Given the description of an element on the screen output the (x, y) to click on. 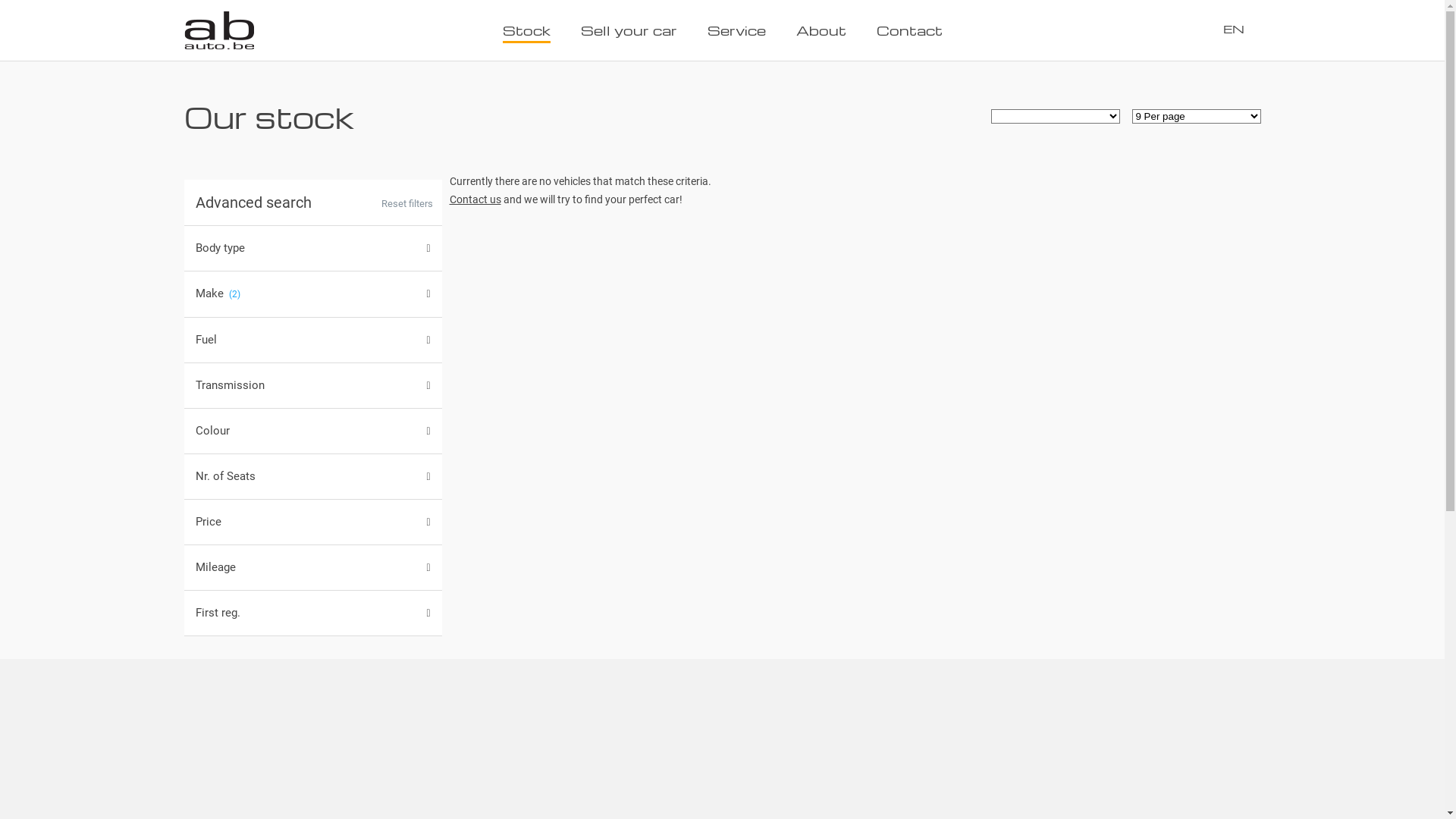
Transmission Element type: text (312, 385)
Reset filters Element type: text (406, 203)
Body type Element type: text (312, 247)
Fuel Element type: text (312, 339)
Contact Element type: text (909, 31)
Nr. of Seats Element type: text (312, 476)
EN  Element type: text (1241, 28)
First reg. Element type: text (312, 612)
Contact us Element type: text (474, 199)
Sell your car Element type: text (628, 31)
Stock Element type: text (525, 31)
AB Auto: Home Element type: hover (218, 24)
Price Element type: text (312, 521)
About Element type: text (821, 31)
Service Element type: text (735, 31)
Colour Element type: text (312, 430)
Mileage Element type: text (312, 567)
Make(2) Element type: text (312, 293)
